Given the description of an element on the screen output the (x, y) to click on. 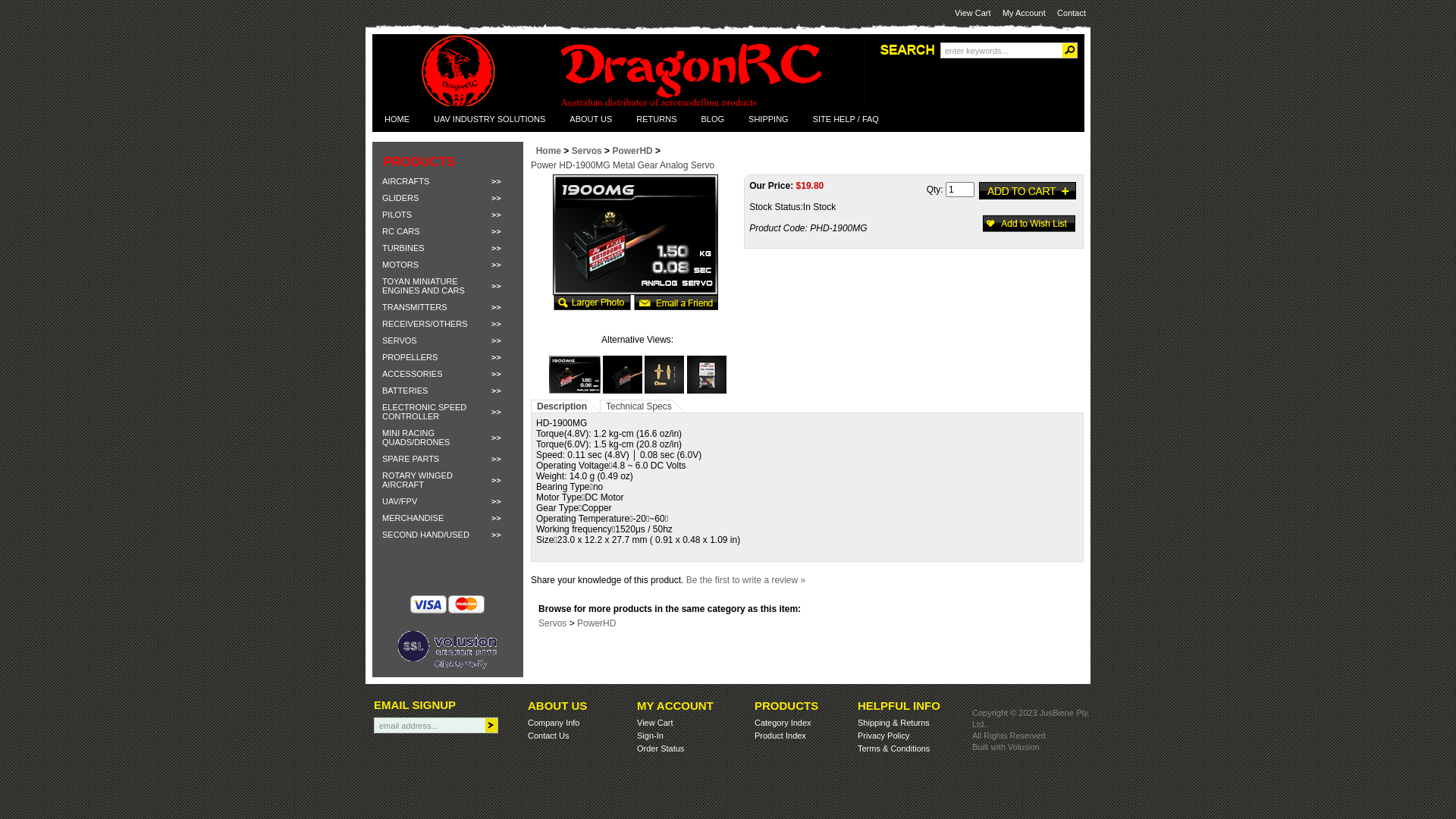
Volusion Element type: text (1023, 746)
Quantity Element type: hover (959, 189)
Technical Specs Element type: text (638, 405)
TRANSMITTERS Element type: text (447, 306)
Servos Element type: text (586, 150)
MINI RACING QUADS/DRONES Element type: text (447, 437)
Terms & Conditions Element type: text (893, 748)
PILOTS Element type: text (447, 214)
ELECTRONIC SPEED CONTROLLER Element type: text (447, 411)
PowerHD Element type: text (596, 623)
Power HD-1900MG Metal Gear Analog Servo Element type: hover (622, 390)
Servos Element type: text (552, 623)
ABOUT US Element type: text (590, 118)
SPARE PARTS Element type: text (447, 458)
Power HD-1900MG Metal Gear Analog Servo Element type: hover (635, 291)
RC CARS Element type: text (447, 230)
SITE HELP / FAQ Element type: text (845, 118)
SECOND HAND/USED Element type: text (447, 534)
Order Status Element type: text (660, 748)
Returns Element type: text (914, 722)
ROTARY WINGED AIRCRAFT Element type: text (447, 479)
Company Info Element type: text (553, 722)
SHIPPING Element type: text (768, 118)
HOME Element type: text (396, 118)
Category Index Element type: text (782, 722)
View Cart Element type: text (972, 12)
SERVOS Element type: text (447, 340)
My Account Element type: text (1023, 12)
WWW.DRAGONRC.COM.AU Element type: text (642, 77)
MERCHANDISE Element type: text (447, 517)
PowerHD Element type: text (631, 150)
TOYAN MINIATURE ENGINES AND CARS Element type: text (447, 285)
DragonRC-Power HD-1900MG Metal Gear Analog Servo Element type: hover (635, 234)
Power HD-1900MG Metal Gear Analog Servo Element type: hover (664, 390)
Description Element type: text (561, 405)
Privacy Policy Element type: text (883, 735)
View Cart Element type: text (654, 722)
Sign-In Element type: text (650, 735)
Power HD-1900MG Metal Gear Analog Servo Element type: hover (591, 306)
Shipping Element type: text (873, 722)
ACCESSORIES Element type: text (447, 373)
BLOG Element type: text (713, 118)
RECEIVERS/OTHERS Element type: text (447, 323)
Home Element type: text (548, 150)
Power HD-1900MG Metal Gear Analog Servo Element type: hover (574, 390)
UAV/FPV Element type: text (447, 500)
MOTORS Element type: text (447, 264)
RETURNS Element type: text (656, 118)
GLIDERS Element type: text (447, 197)
Contact Element type: text (1071, 12)
Contact Us Element type: text (547, 735)
AIRCRAFTS Element type: text (447, 180)
TURBINES Element type: text (447, 247)
BATTERIES Element type: text (447, 390)
Power HD-1900MG Metal Gear Analog Servo Element type: hover (706, 390)
PROPELLERS Element type: text (447, 356)
Product Index Element type: text (780, 735)
UAV INDUSTRY SOLUTIONS Element type: text (489, 118)
